Given the description of an element on the screen output the (x, y) to click on. 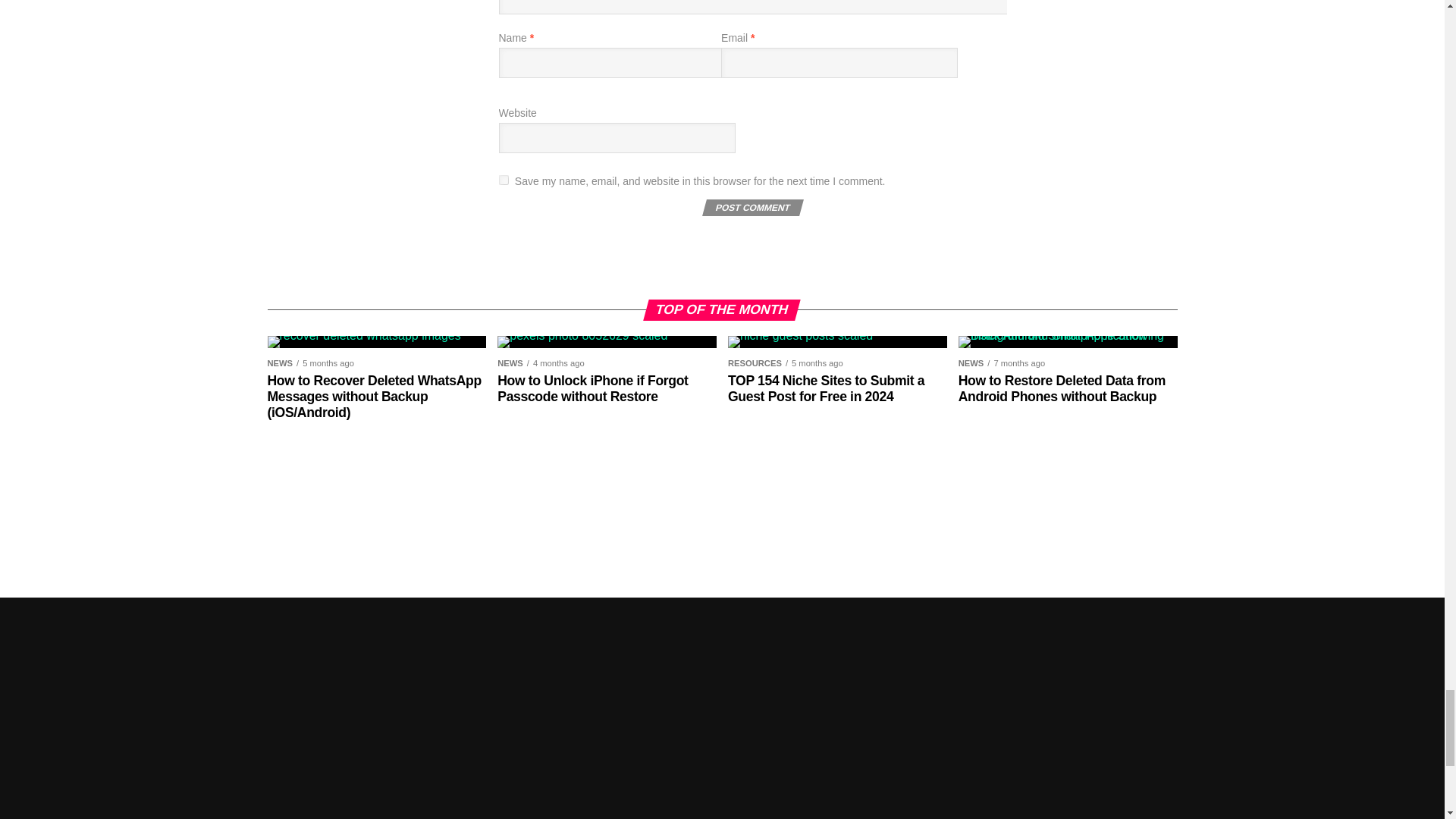
yes (503, 180)
Post Comment (750, 207)
